Given the description of an element on the screen output the (x, y) to click on. 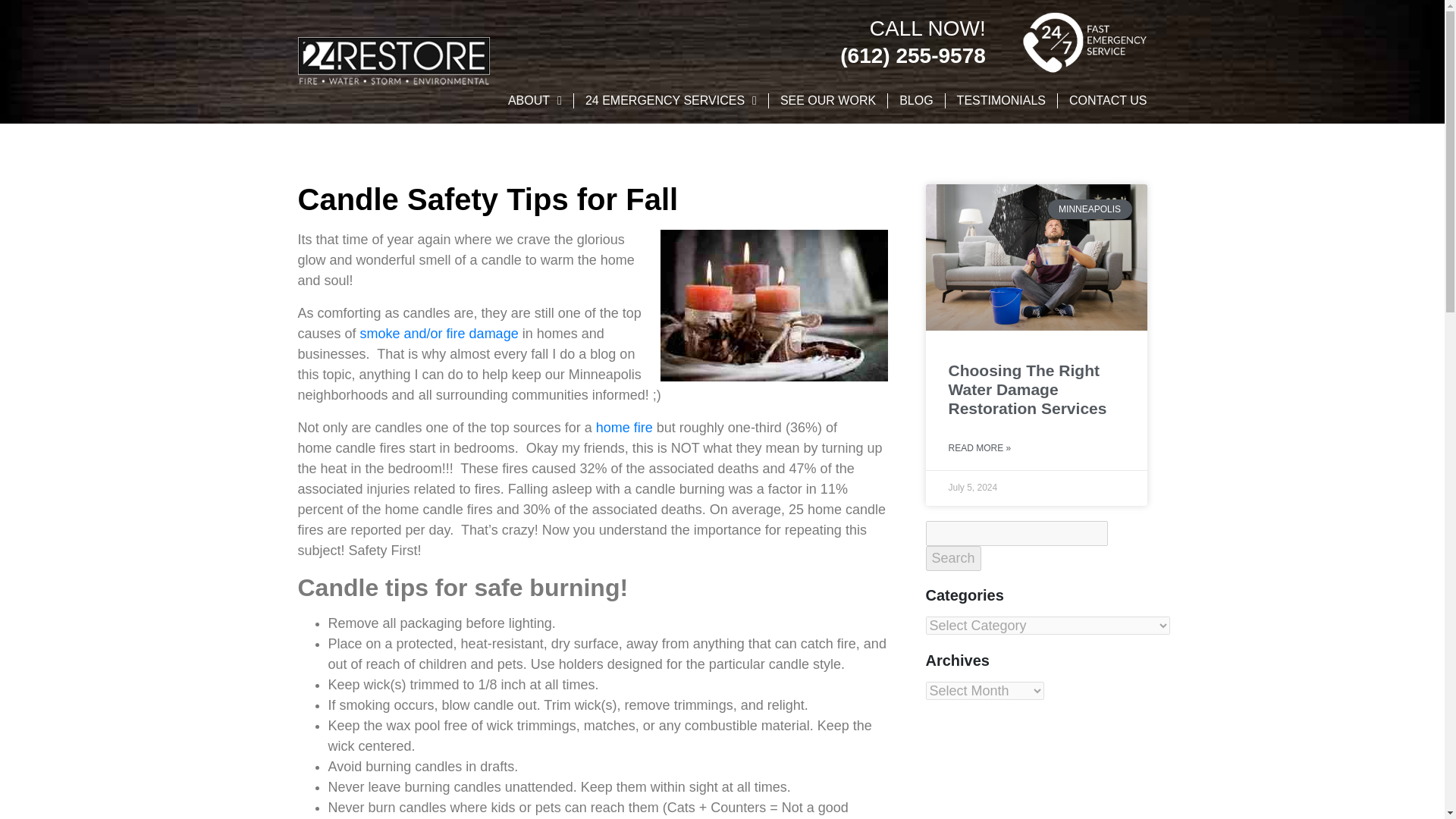
Search (951, 558)
24 EMERGENCY SERVICES (671, 100)
ABOUT (535, 100)
TESTIMONIALS (1000, 100)
BLOG (916, 100)
CONTACT US (1107, 100)
SEE OUR WORK (828, 100)
